Given the description of an element on the screen output the (x, y) to click on. 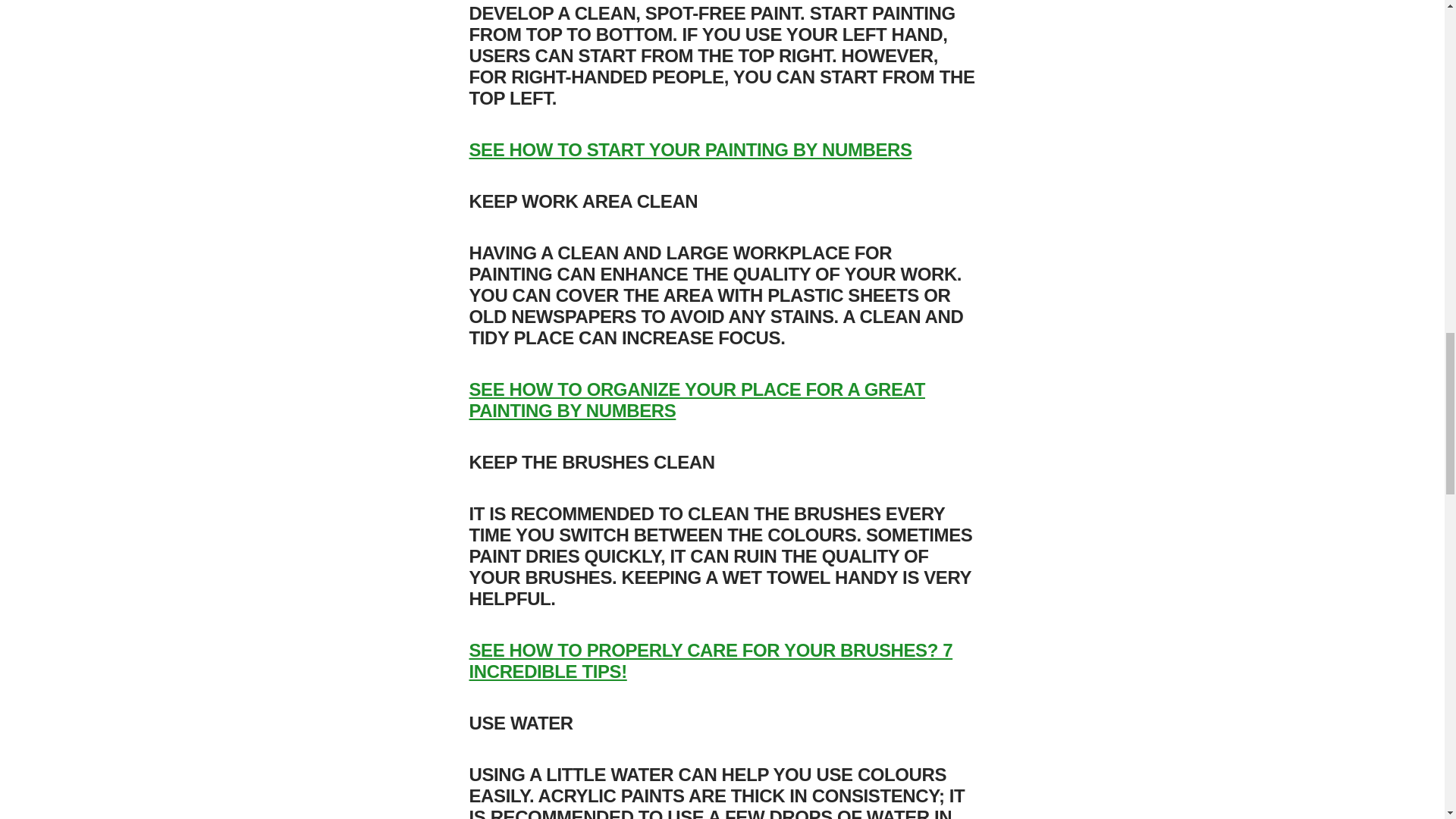
SEE HOW TO START YOUR PAINTING BY NUMBERS (689, 149)
